Given the description of an element on the screen output the (x, y) to click on. 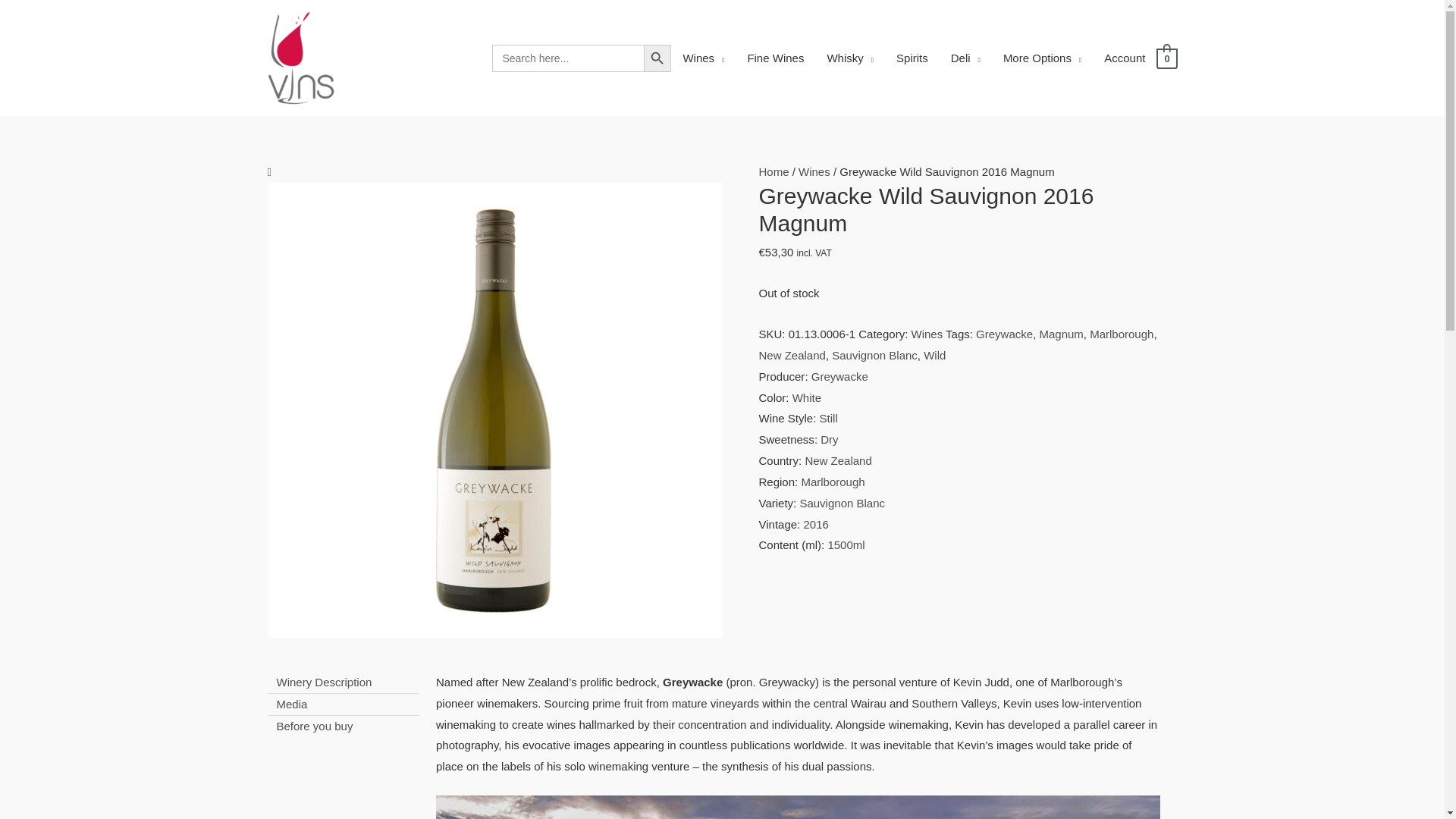
Search Button (657, 57)
Wines (703, 57)
